Given the description of an element on the screen output the (x, y) to click on. 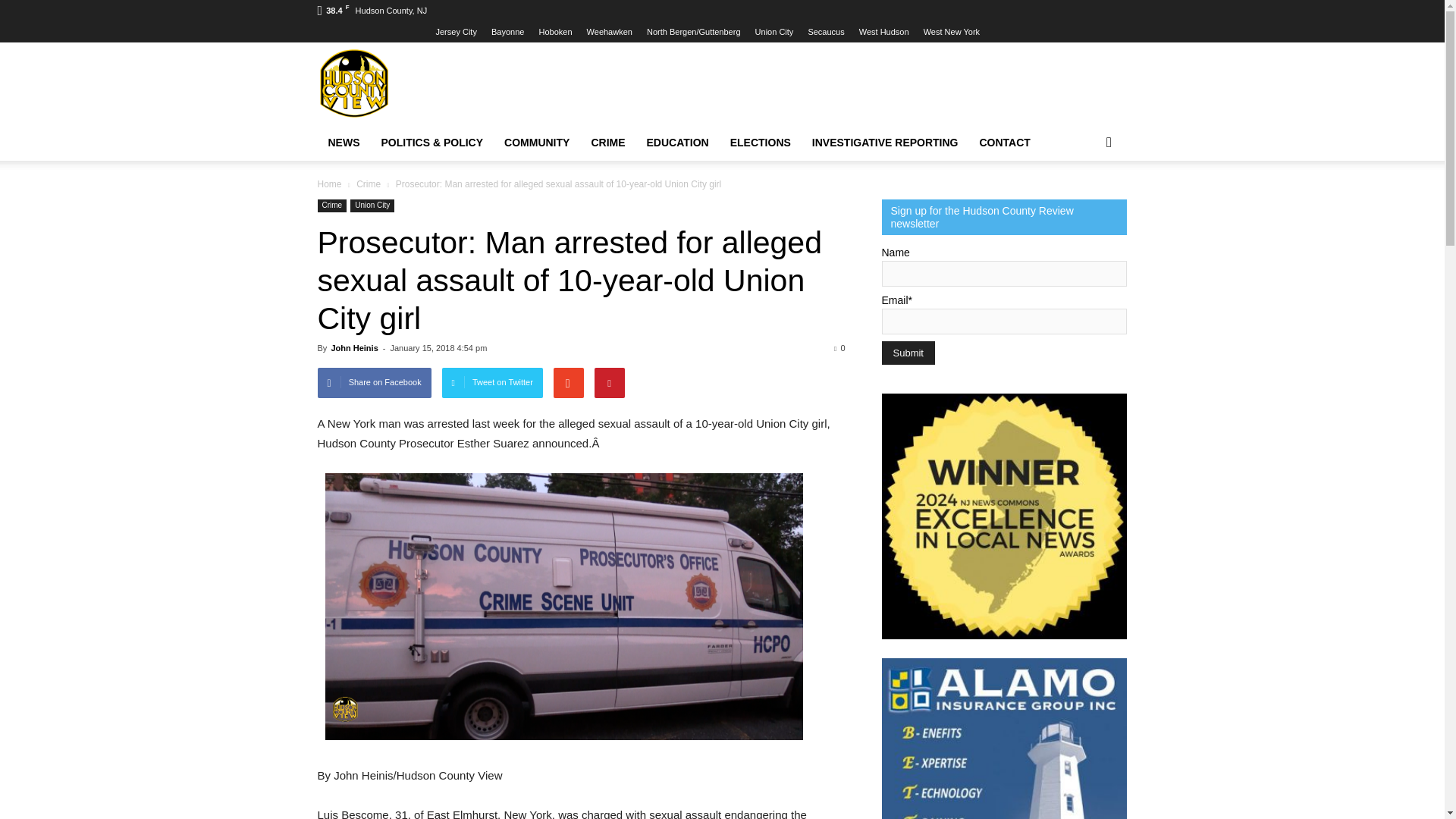
Secaucus (826, 31)
View all posts in Crime (369, 184)
Hoboken (555, 31)
Jersey City (455, 31)
West Hudson (883, 31)
Bayonne (508, 31)
Union City (774, 31)
CRIME (606, 142)
CONTACT (1005, 142)
INVESTIGATIVE REPORTING (885, 142)
